Given the description of an element on the screen output the (x, y) to click on. 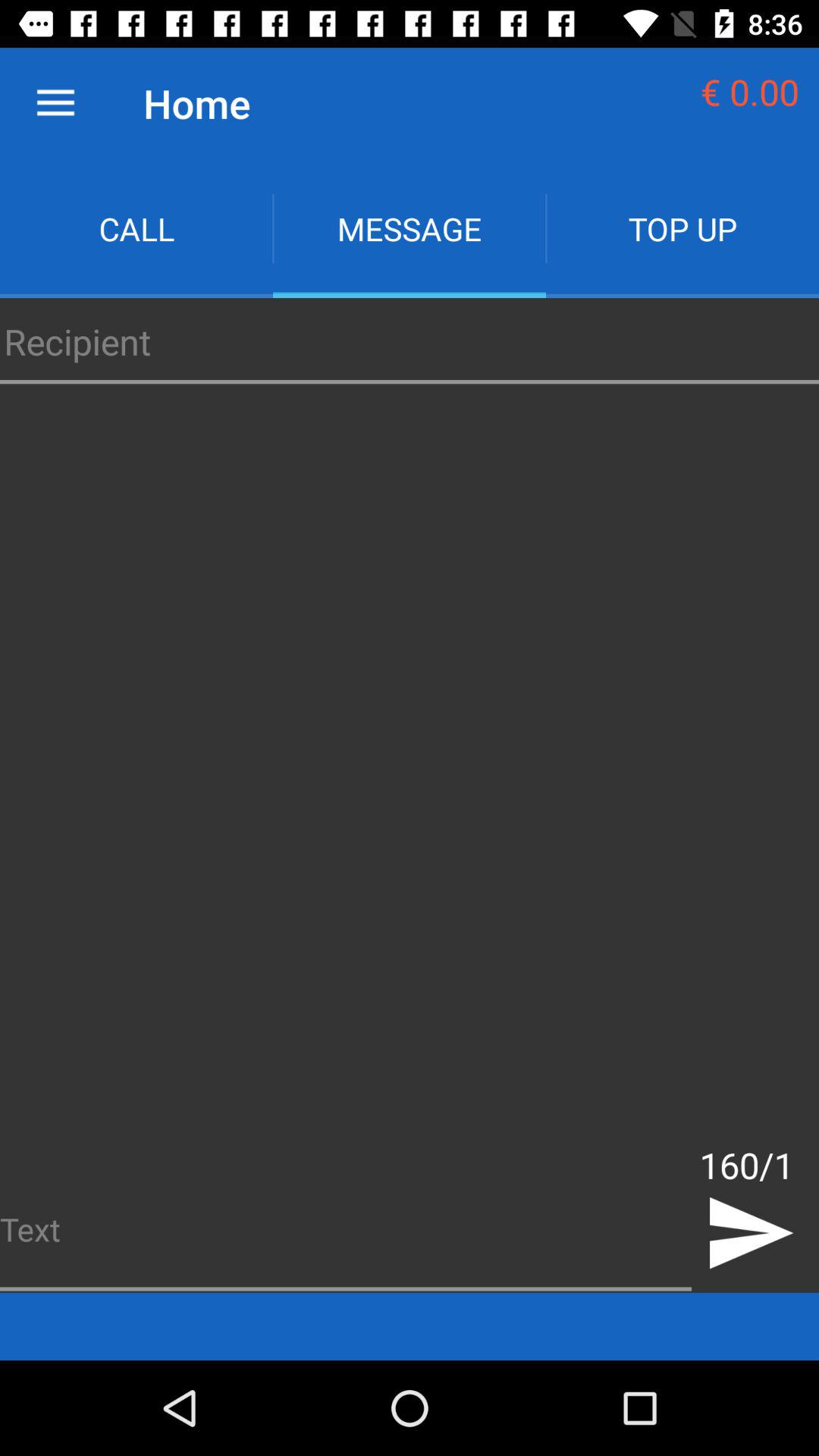
press top up item (682, 228)
